Given the description of an element on the screen output the (x, y) to click on. 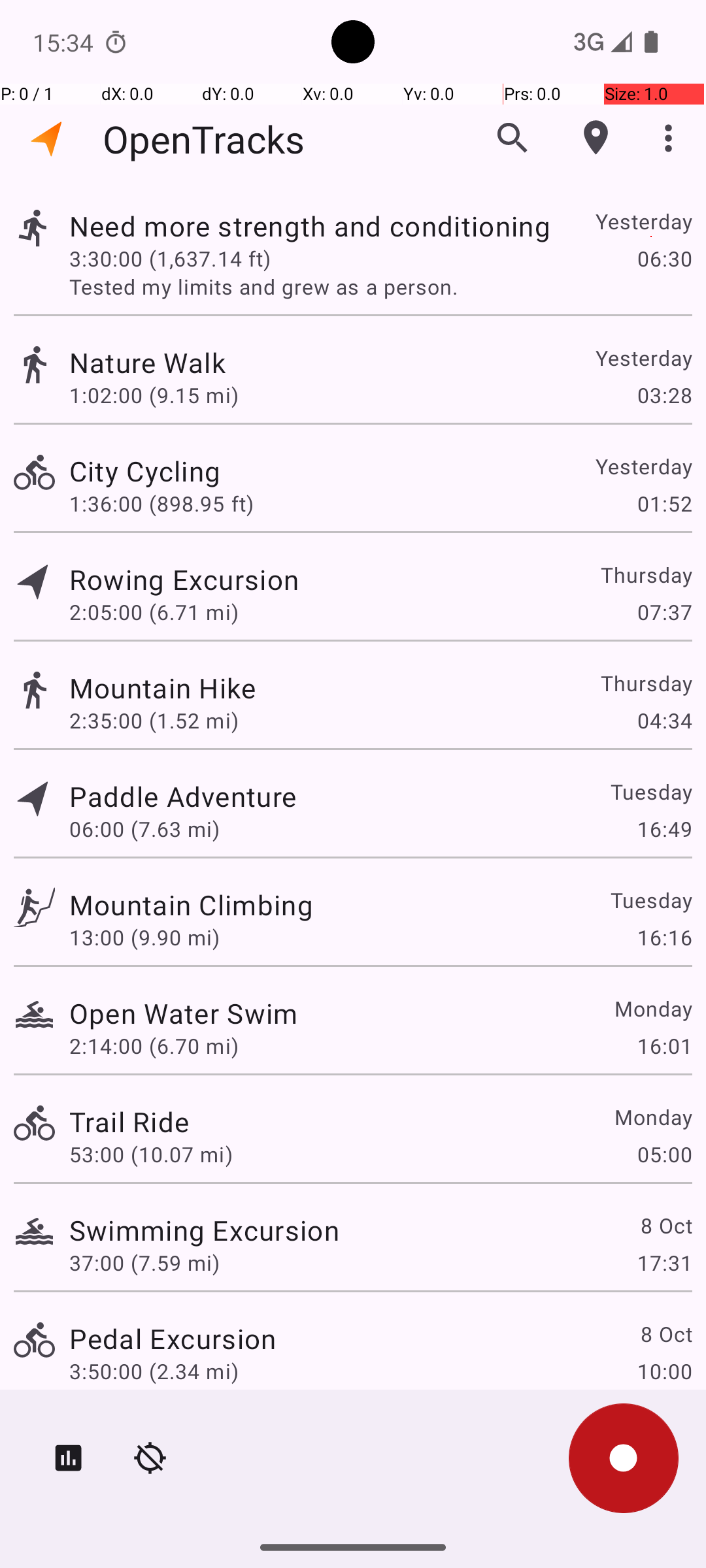
Need more strength and conditioning Element type: android.widget.TextView (309, 225)
3:30:00 (1,637.14 ft) Element type: android.widget.TextView (169, 258)
06:30 Element type: android.widget.TextView (664, 258)
Tested my limits and grew as a person. Element type: android.widget.TextView (380, 286)
Nature Walk Element type: android.widget.TextView (147, 361)
1:02:00 (9.15 mi) Element type: android.widget.TextView (153, 394)
03:28 Element type: android.widget.TextView (664, 394)
City Cycling Element type: android.widget.TextView (144, 470)
1:36:00 (898.95 ft) Element type: android.widget.TextView (161, 503)
01:52 Element type: android.widget.TextView (664, 503)
Rowing Excursion Element type: android.widget.TextView (183, 578)
2:05:00 (6.71 mi) Element type: android.widget.TextView (153, 611)
07:37 Element type: android.widget.TextView (664, 611)
Mountain Hike Element type: android.widget.TextView (162, 687)
2:35:00 (1.52 mi) Element type: android.widget.TextView (153, 720)
04:34 Element type: android.widget.TextView (664, 720)
Paddle Adventure Element type: android.widget.TextView (182, 795)
06:00 (7.63 mi) Element type: android.widget.TextView (144, 828)
16:49 Element type: android.widget.TextView (664, 828)
Mountain Climbing Element type: android.widget.TextView (190, 904)
13:00 (9.90 mi) Element type: android.widget.TextView (144, 937)
16:16 Element type: android.widget.TextView (664, 937)
Open Water Swim Element type: android.widget.TextView (183, 1012)
2:14:00 (6.70 mi) Element type: android.widget.TextView (153, 1045)
16:01 Element type: android.widget.TextView (664, 1045)
Trail Ride Element type: android.widget.TextView (128, 1121)
53:00 (10.07 mi) Element type: android.widget.TextView (150, 1154)
05:00 Element type: android.widget.TextView (664, 1154)
Swimming Excursion Element type: android.widget.TextView (203, 1229)
37:00 (7.59 mi) Element type: android.widget.TextView (144, 1262)
17:31 Element type: android.widget.TextView (664, 1262)
Pedal Excursion Element type: android.widget.TextView (172, 1337)
3:50:00 (2.34 mi) Element type: android.widget.TextView (153, 1370)
